Given the description of an element on the screen output the (x, y) to click on. 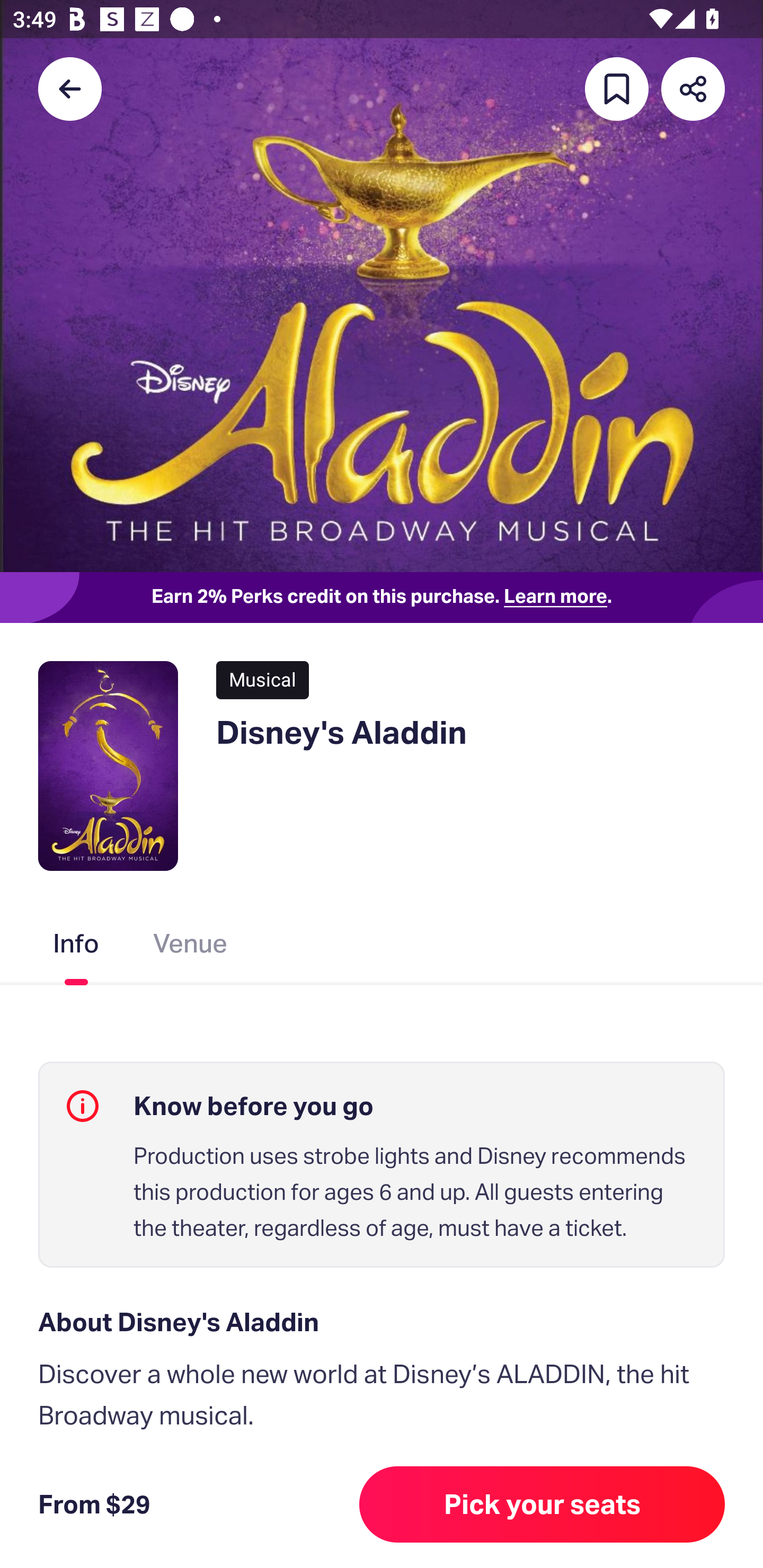
Earn 2% Perks credit on this purchase. Learn more. (381, 597)
Venue (190, 946)
About Disney's Aladdin (381, 1322)
Pick your seats (541, 1504)
